Given the description of an element on the screen output the (x, y) to click on. 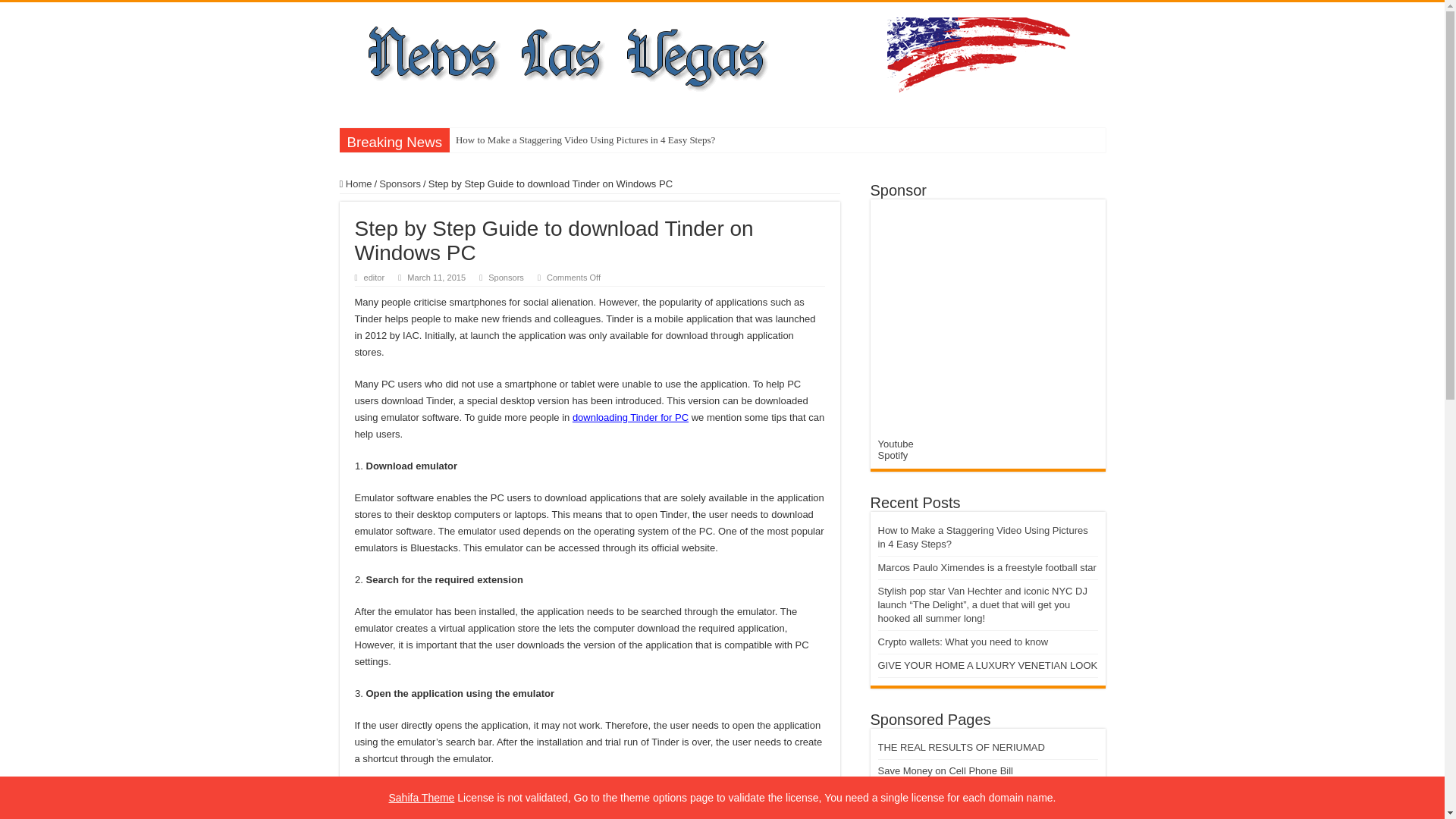
GIVE YOUR HOME A LUXURY VENETIAN LOOK (987, 665)
Marcos Paulo Ximendes is a freestyle football star (986, 567)
Youtube (895, 443)
editor (374, 276)
Crypto wallets: What you need to know (962, 641)
Home (355, 183)
Sponsors (505, 276)
Sponsors (399, 183)
downloading Tinder for PC (630, 417)
News Las Vegas (710, 54)
Spotify (892, 455)
